Given the description of an element on the screen output the (x, y) to click on. 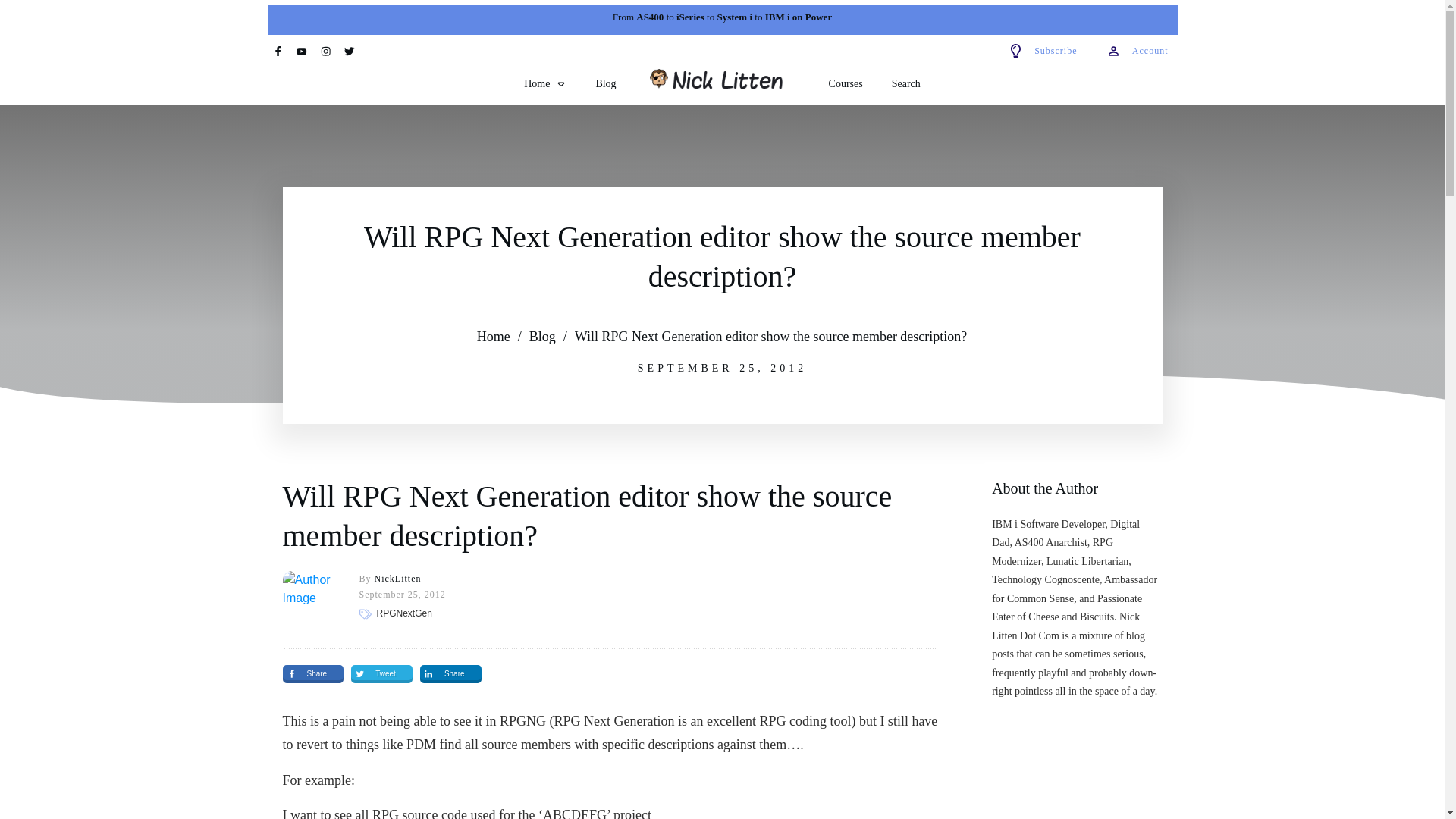
Subscribe (1042, 51)
Account (1137, 51)
undefined (309, 597)
Search (905, 84)
Courses (845, 84)
Home (494, 336)
Tweet (381, 674)
Share (450, 674)
Blog (605, 84)
Home (545, 84)
Share (312, 674)
Blog (542, 336)
